Given the description of an element on the screen output the (x, y) to click on. 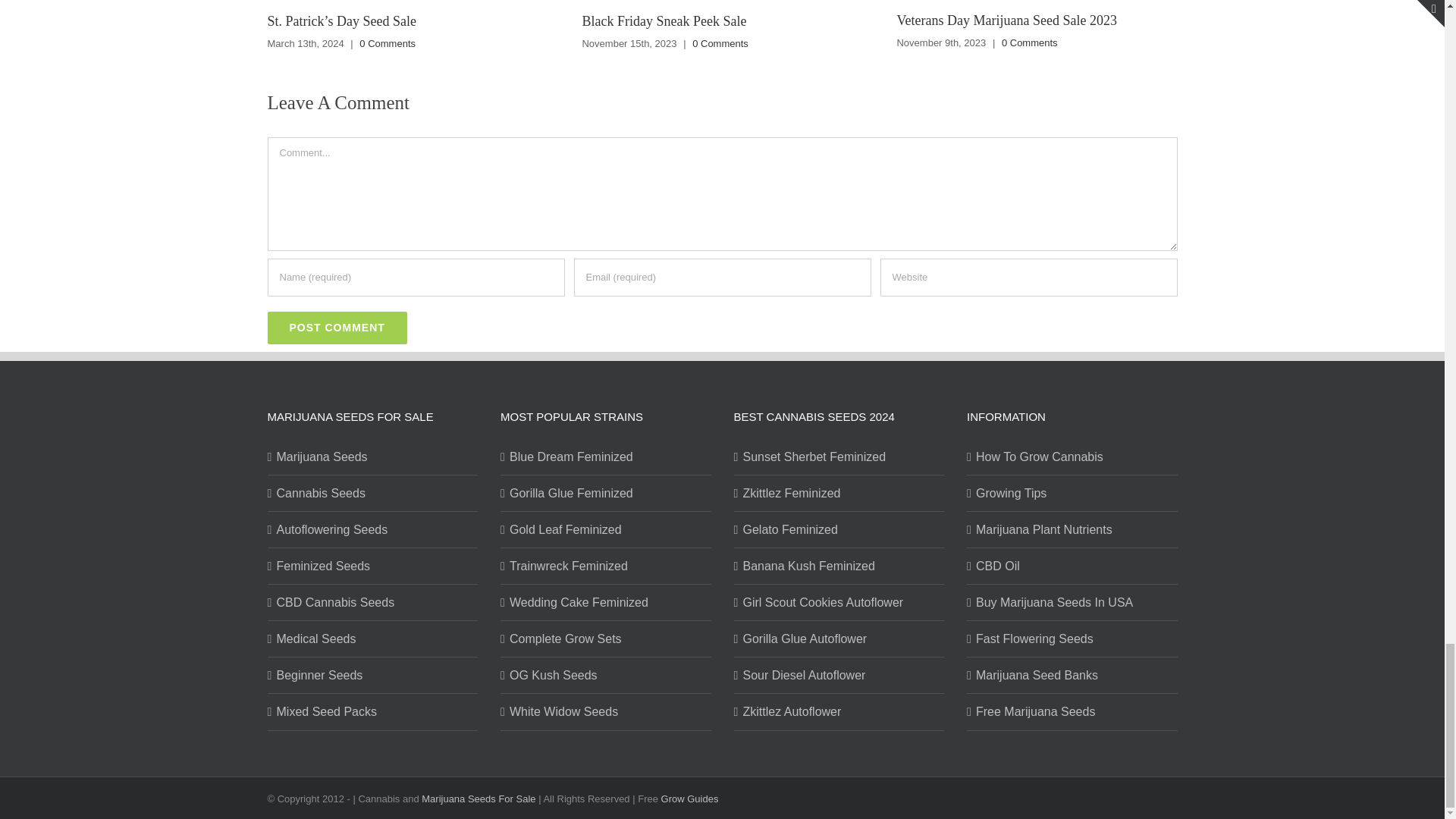
Veterans Day Marijuana Seed Sale 2023 (1006, 20)
Black Friday Sneak Peek Sale (662, 20)
0 Comments (386, 43)
Post Comment (336, 327)
0 Comments (720, 43)
